Given the description of an element on the screen output the (x, y) to click on. 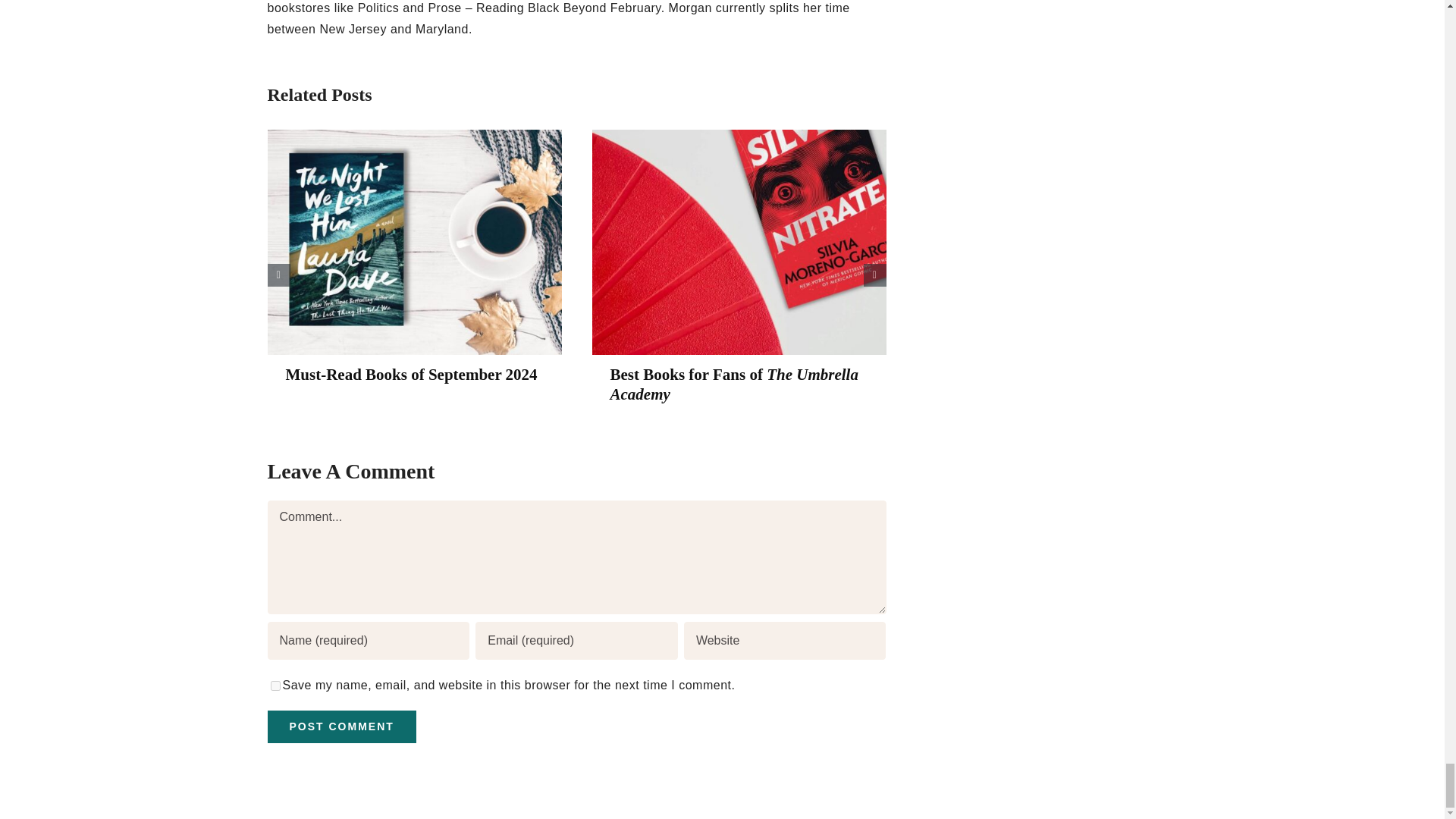
Best Books for Fans of The Umbrella Academy (733, 383)
yes (274, 685)
Post Comment (340, 726)
Must-Read Books of September 2024 (411, 374)
